Given the description of an element on the screen output the (x, y) to click on. 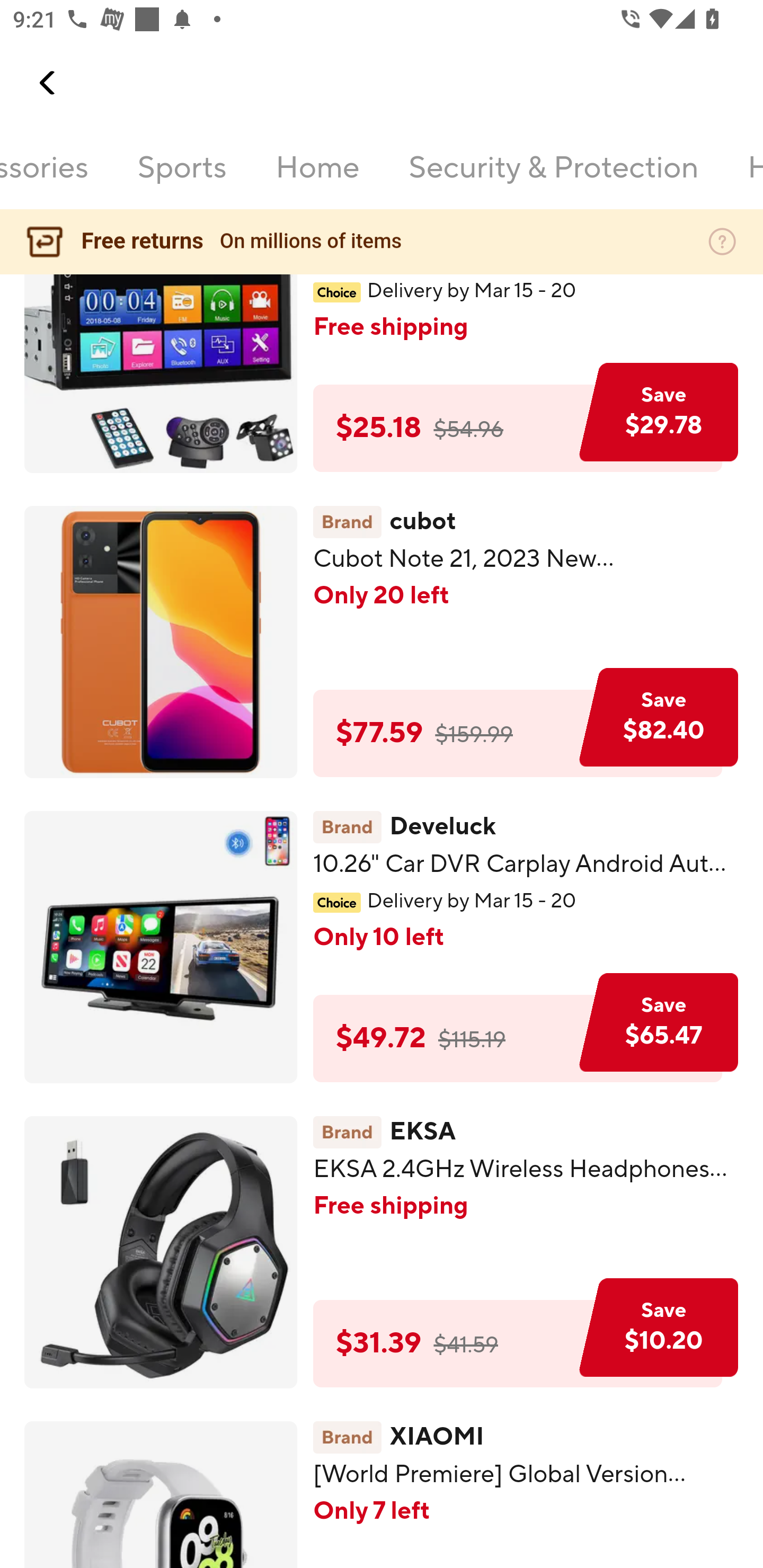
 (48, 82)
Phones & accessories (44, 178)
Sports (181, 178)
Home (317, 178)
Security & Protection (552, 178)
